Given the description of an element on the screen output the (x, y) to click on. 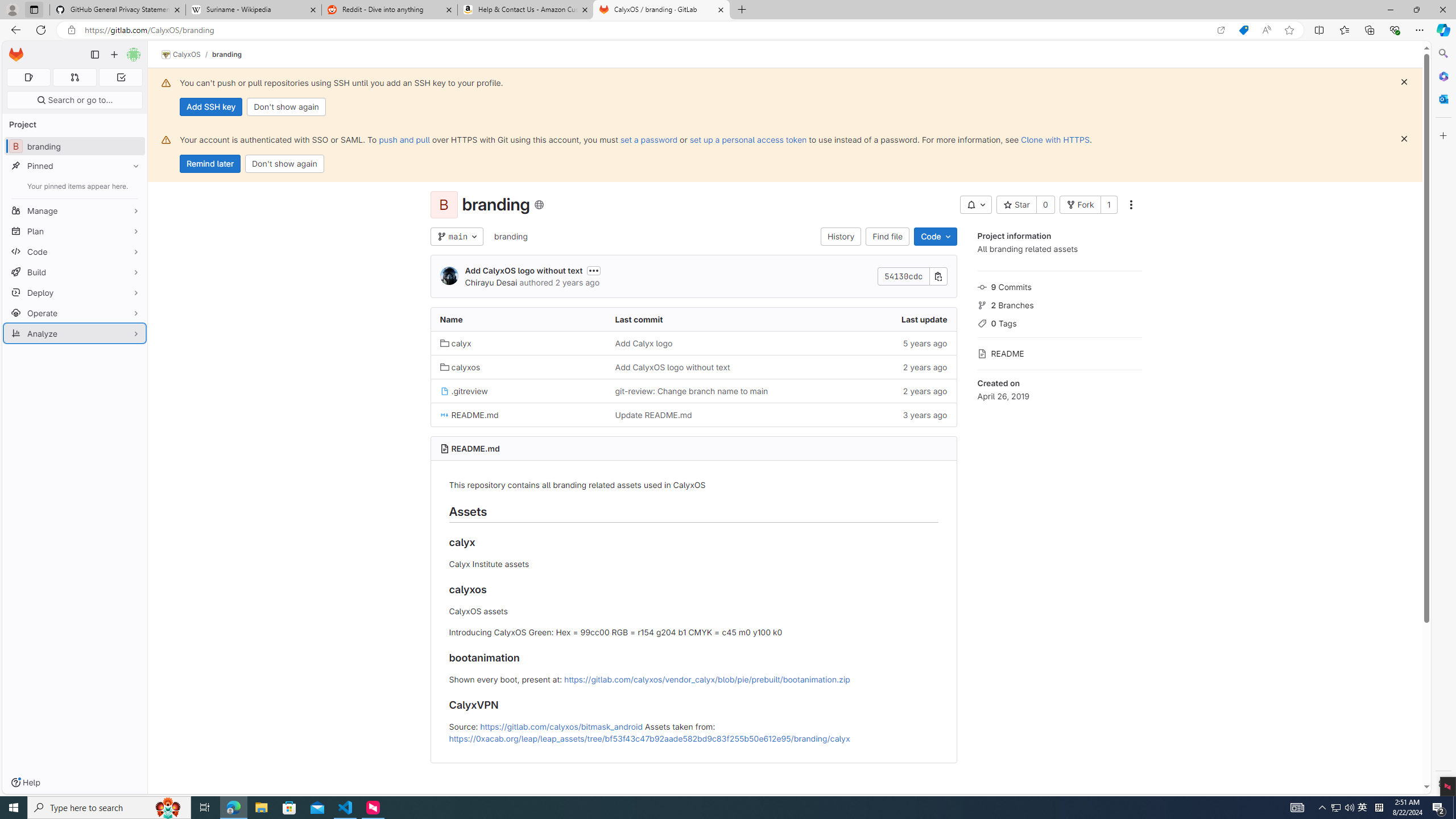
History (840, 236)
README (1058, 352)
.gitreview (463, 390)
calyx (455, 342)
Fork (1079, 204)
9 Commits (1058, 286)
2 Branches (1058, 304)
Remind later (210, 163)
Merge requests 0 (74, 76)
To-Do list 0 (120, 76)
